Given the description of an element on the screen output the (x, y) to click on. 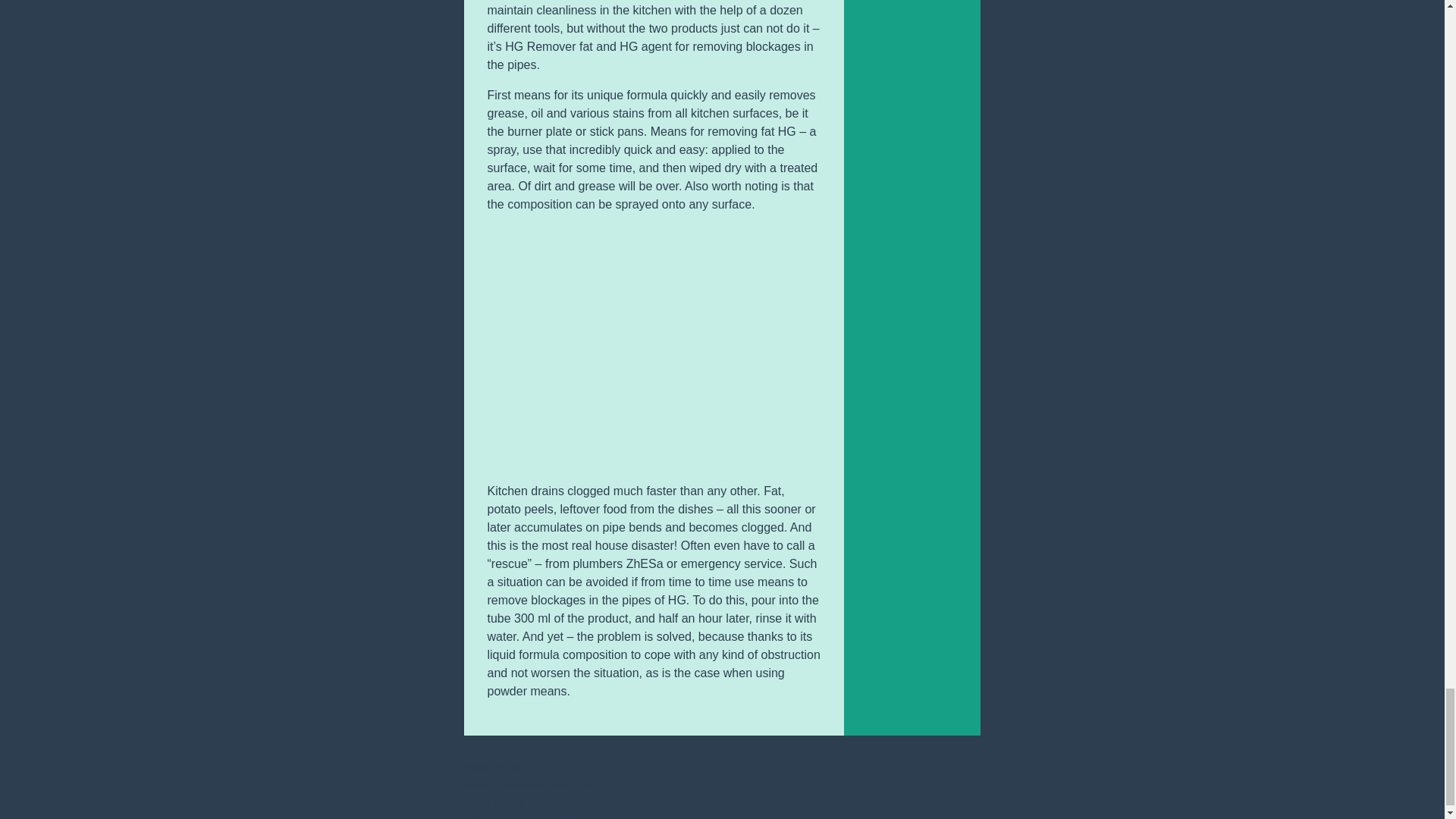
read more (491, 766)
www.showmesnowgeese.com (545, 784)
learn more (492, 802)
